Given the description of an element on the screen output the (x, y) to click on. 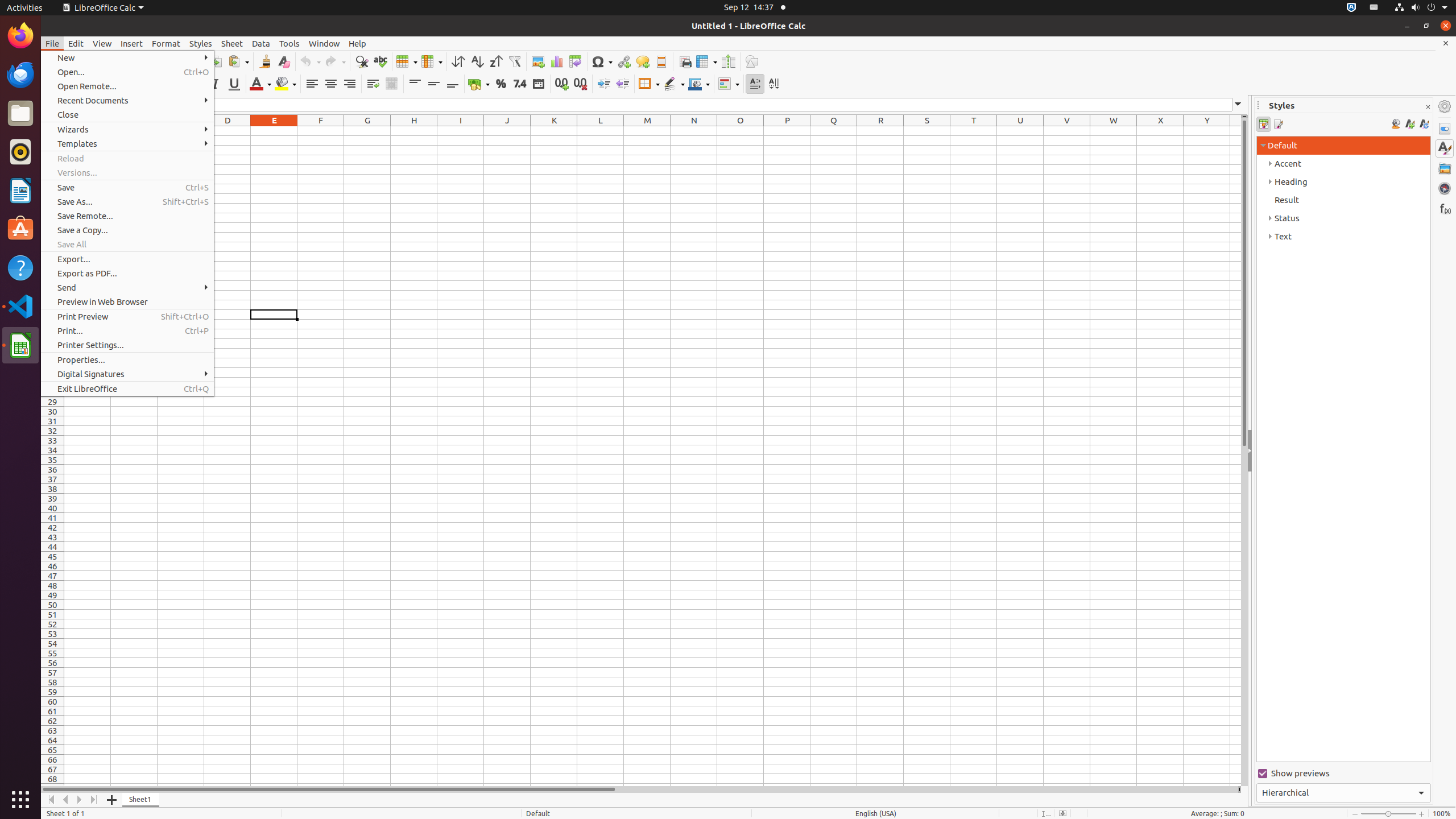
Spelling Element type: push-button (379, 61)
Draw Functions Element type: toggle-button (751, 61)
System Element type: menu (1420, 7)
S1 Element type: table-cell (926, 130)
:1.72/StatusNotifierItem Element type: menu (1350, 7)
